Given the description of an element on the screen output the (x, y) to click on. 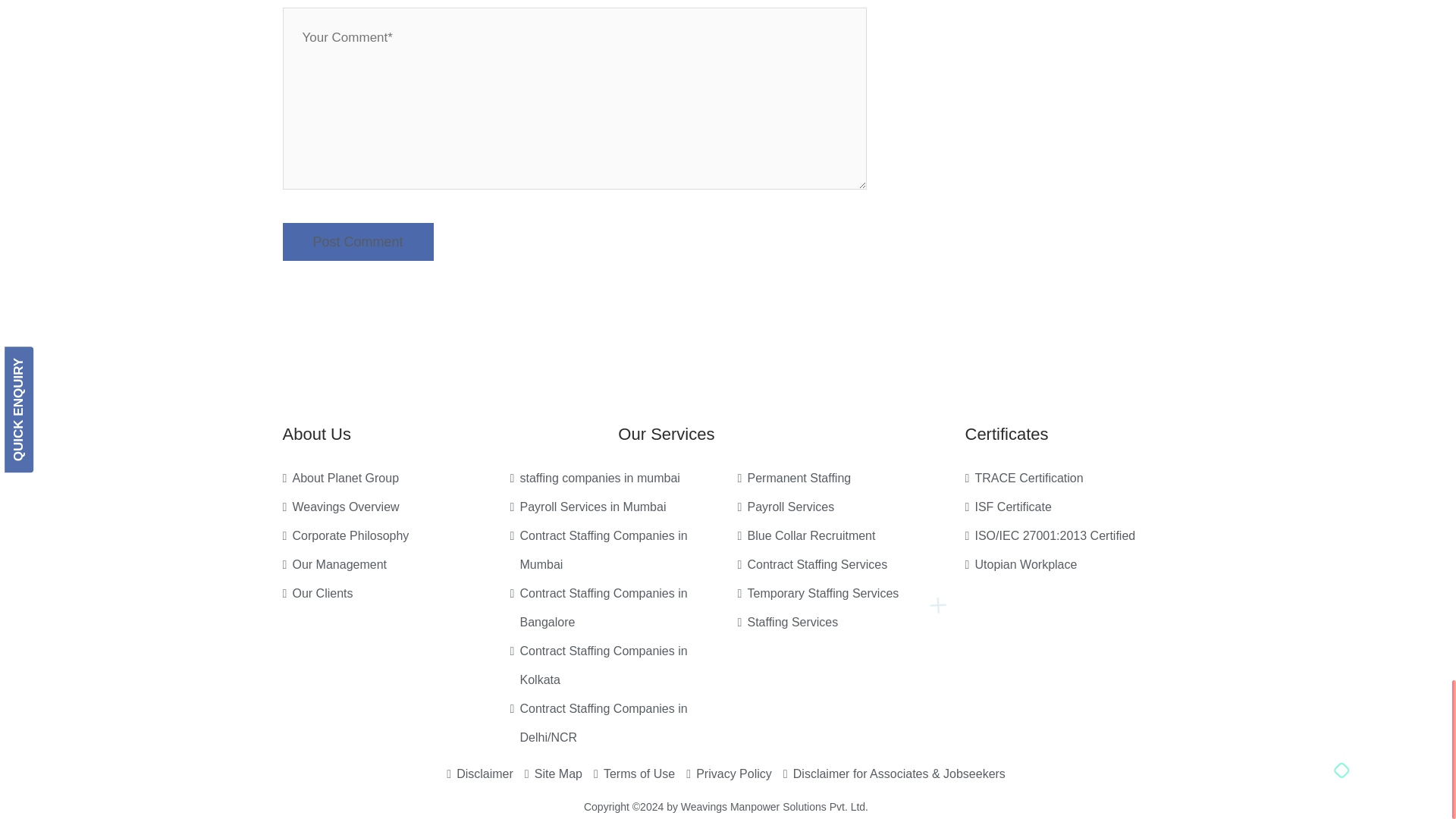
Post Comment (357, 241)
